Given the description of an element on the screen output the (x, y) to click on. 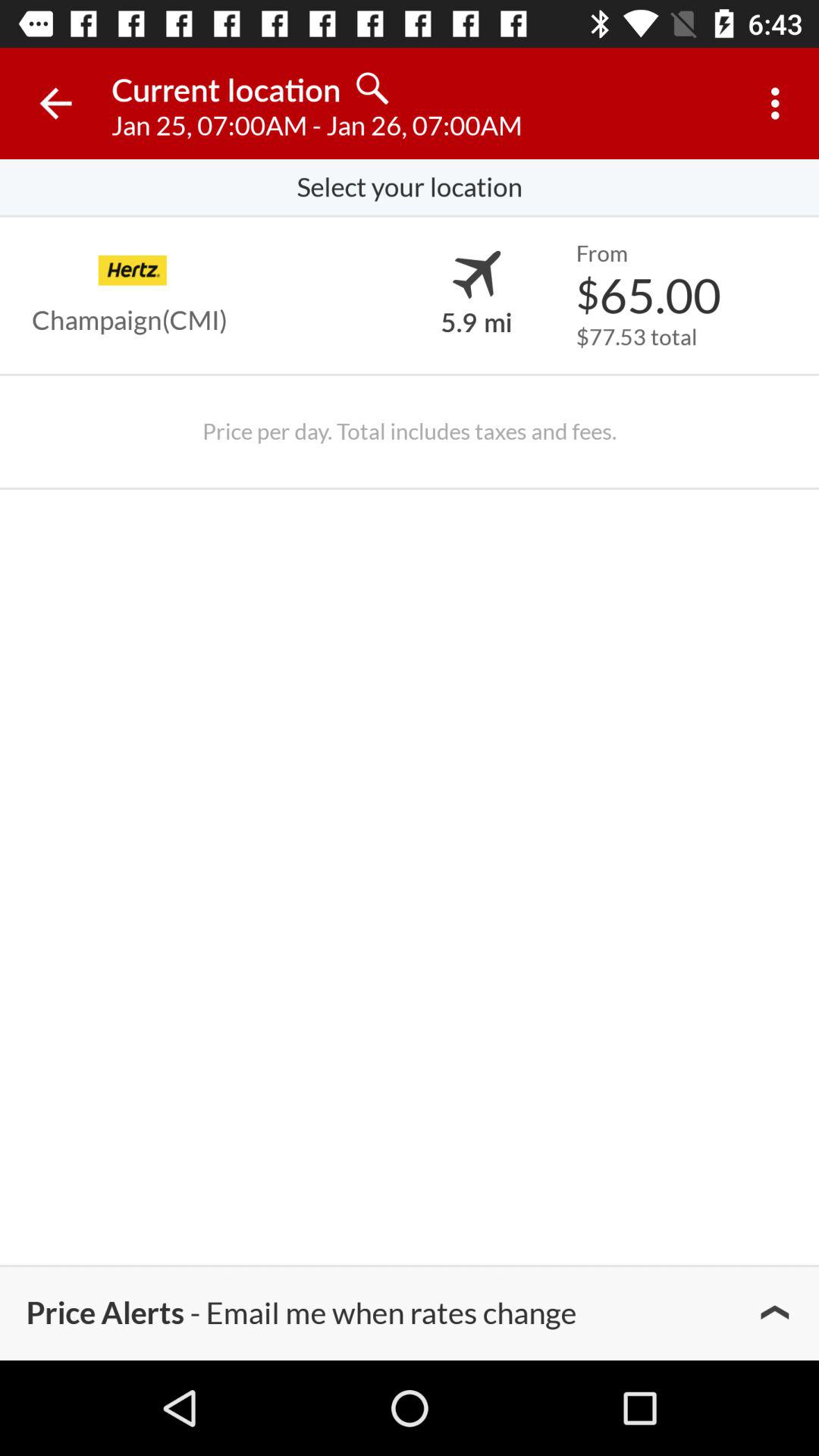
turn off icon to the left of from icon (476, 274)
